Given the description of an element on the screen output the (x, y) to click on. 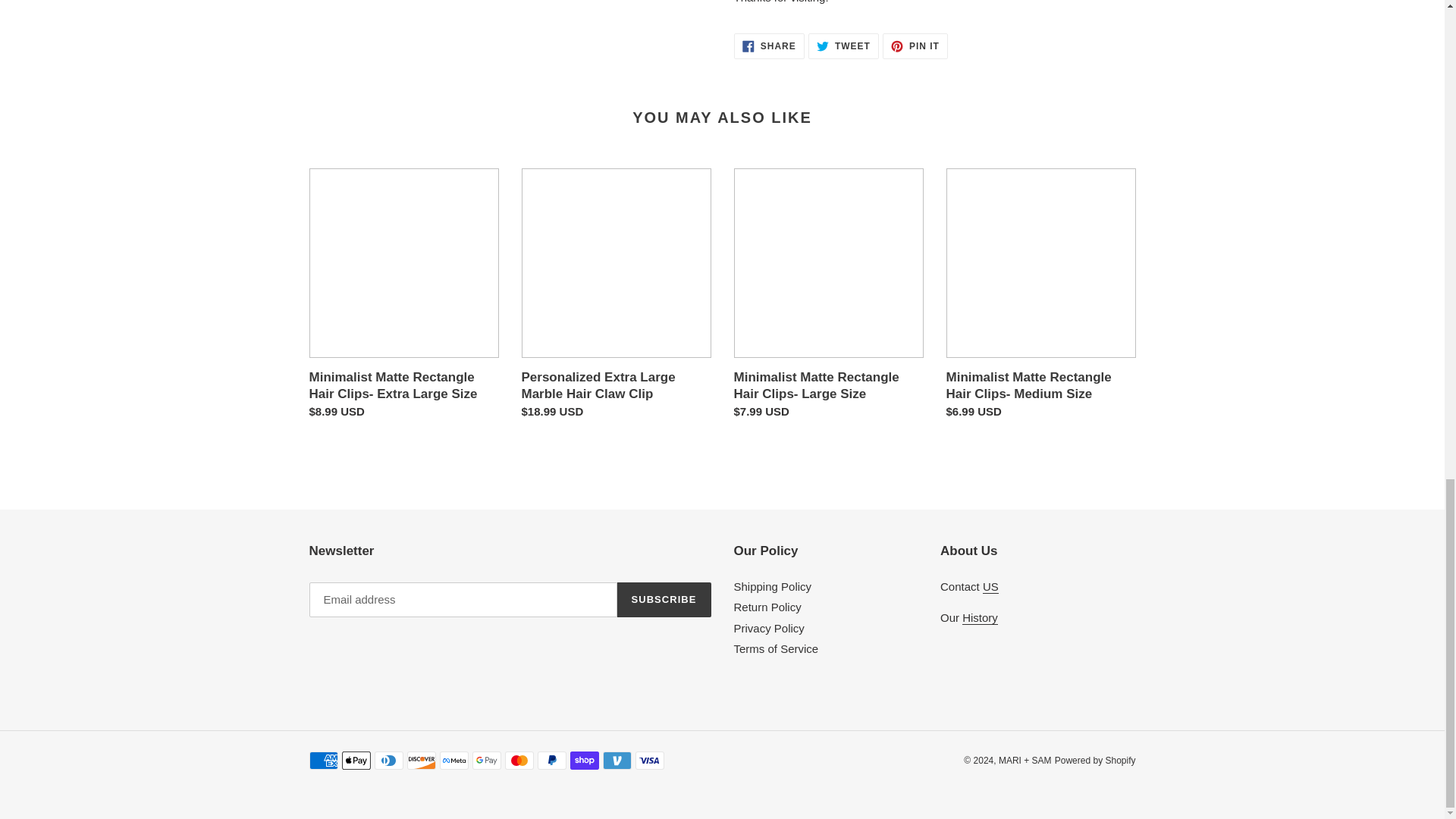
About Us (979, 617)
Contact US (990, 586)
